Given the description of an element on the screen output the (x, y) to click on. 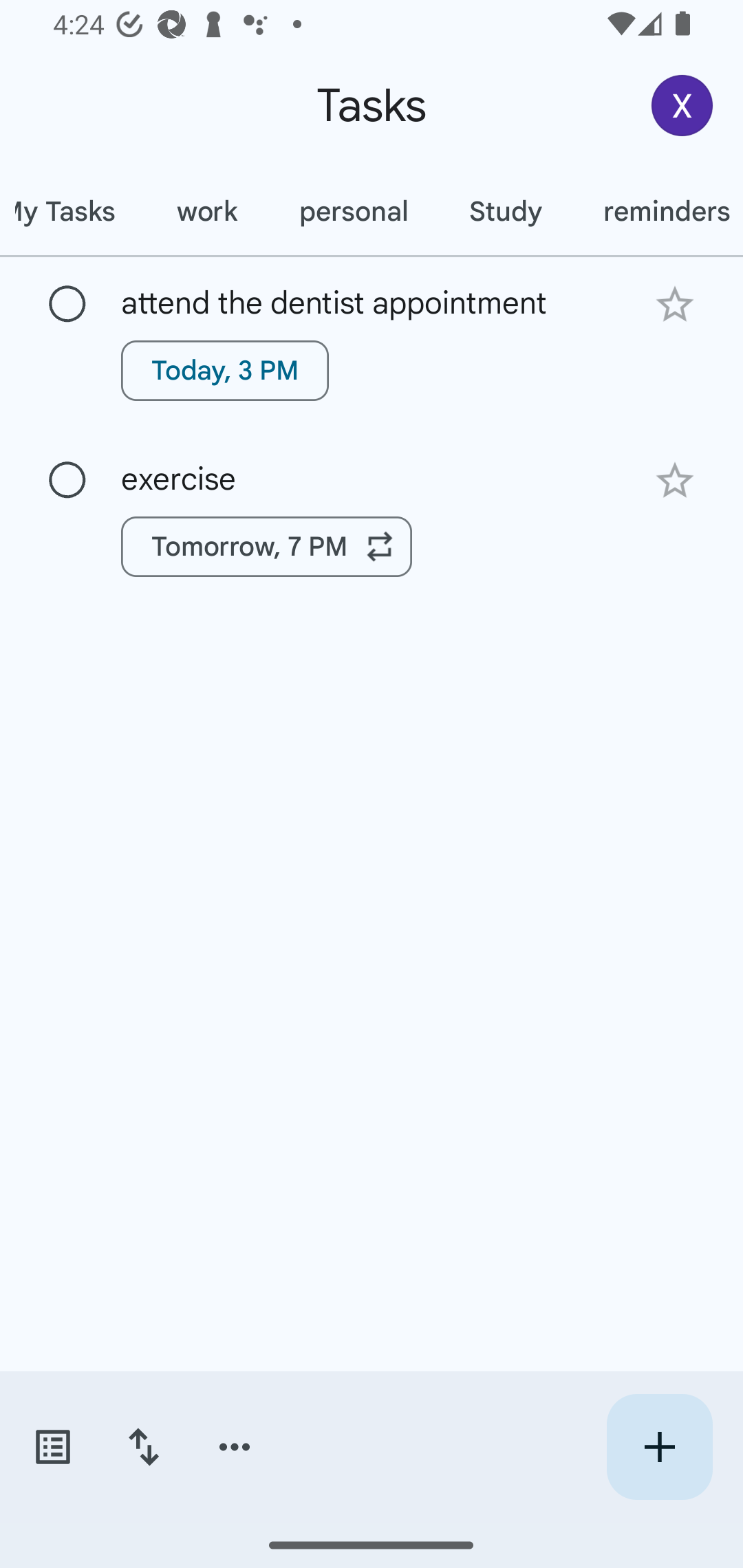
My Tasks (72, 211)
work (206, 211)
personal (353, 211)
Study (505, 211)
reminders (657, 211)
Add star (674, 303)
Mark as complete (67, 304)
Today, 3 PM (225, 369)
Add star (674, 480)
Mark as complete (67, 480)
Tomorrow, 7 PM (266, 546)
Switch task lists (52, 1447)
Create new task (659, 1446)
Change sort order (143, 1446)
More options (234, 1446)
